Given the description of an element on the screen output the (x, y) to click on. 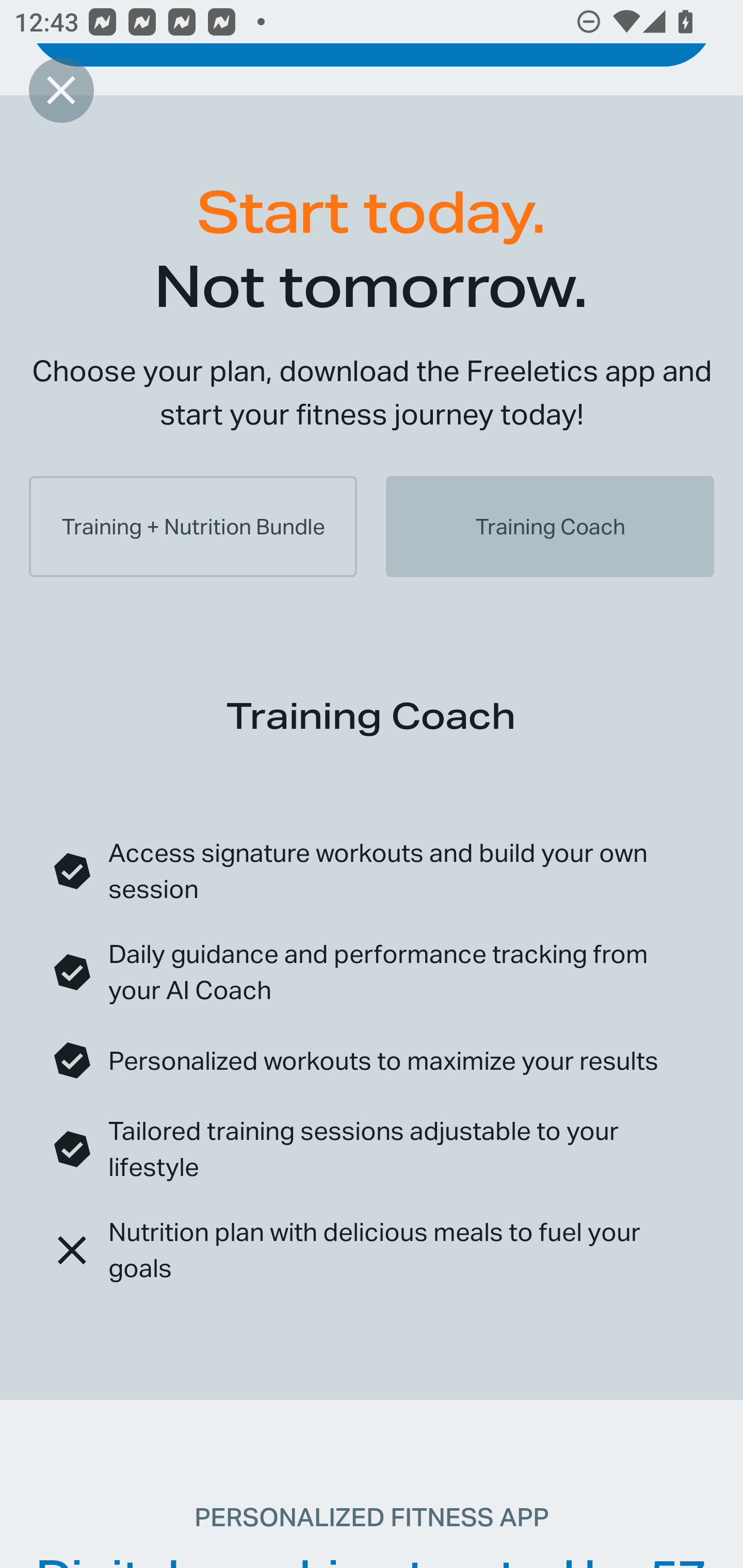
Close (60, 90)
Training + Nutrition Bundle (192, 526)
Training Coach (549, 526)
